Given the description of an element on the screen output the (x, y) to click on. 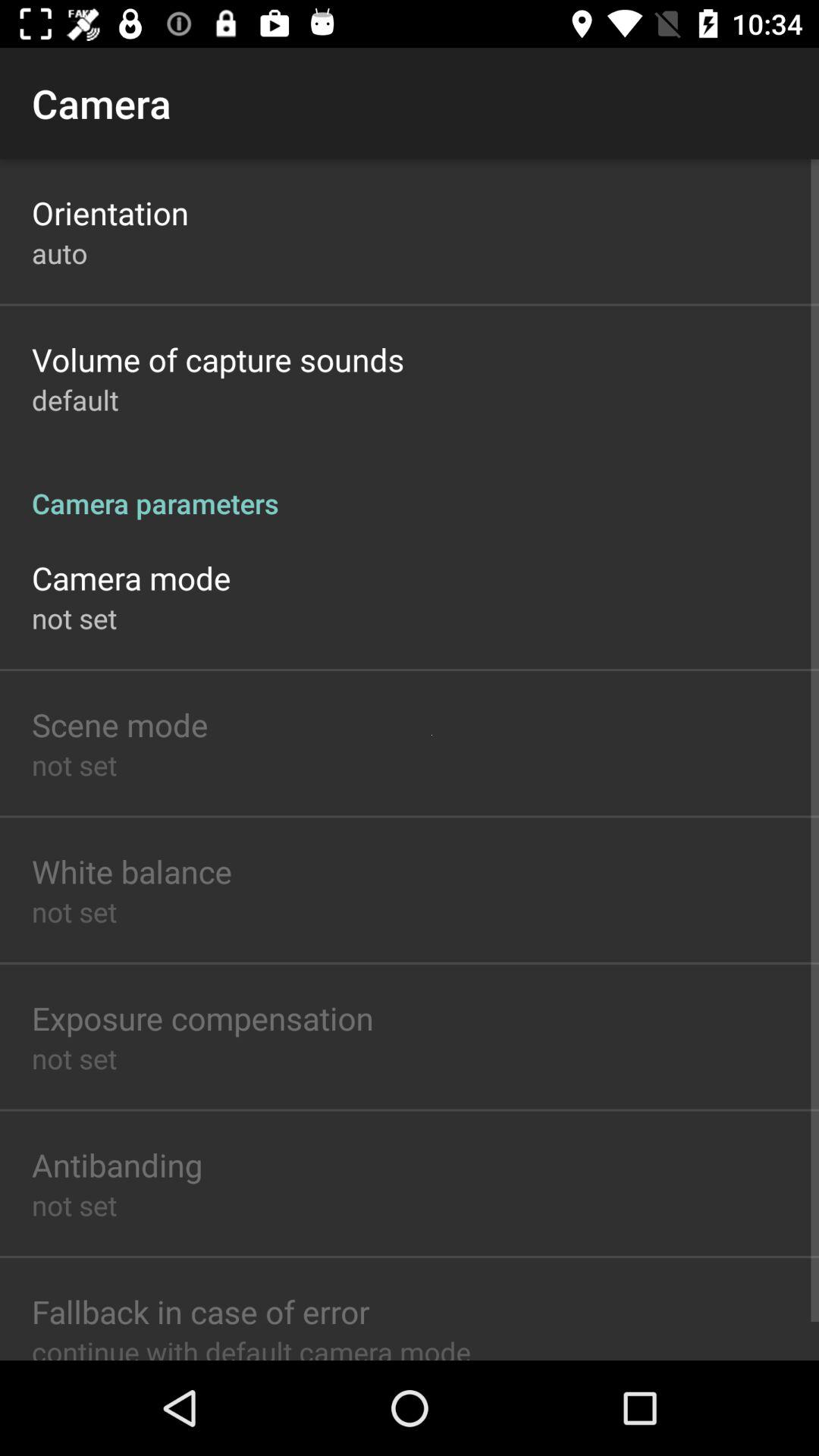
open app below orientation item (59, 252)
